Given the description of an element on the screen output the (x, y) to click on. 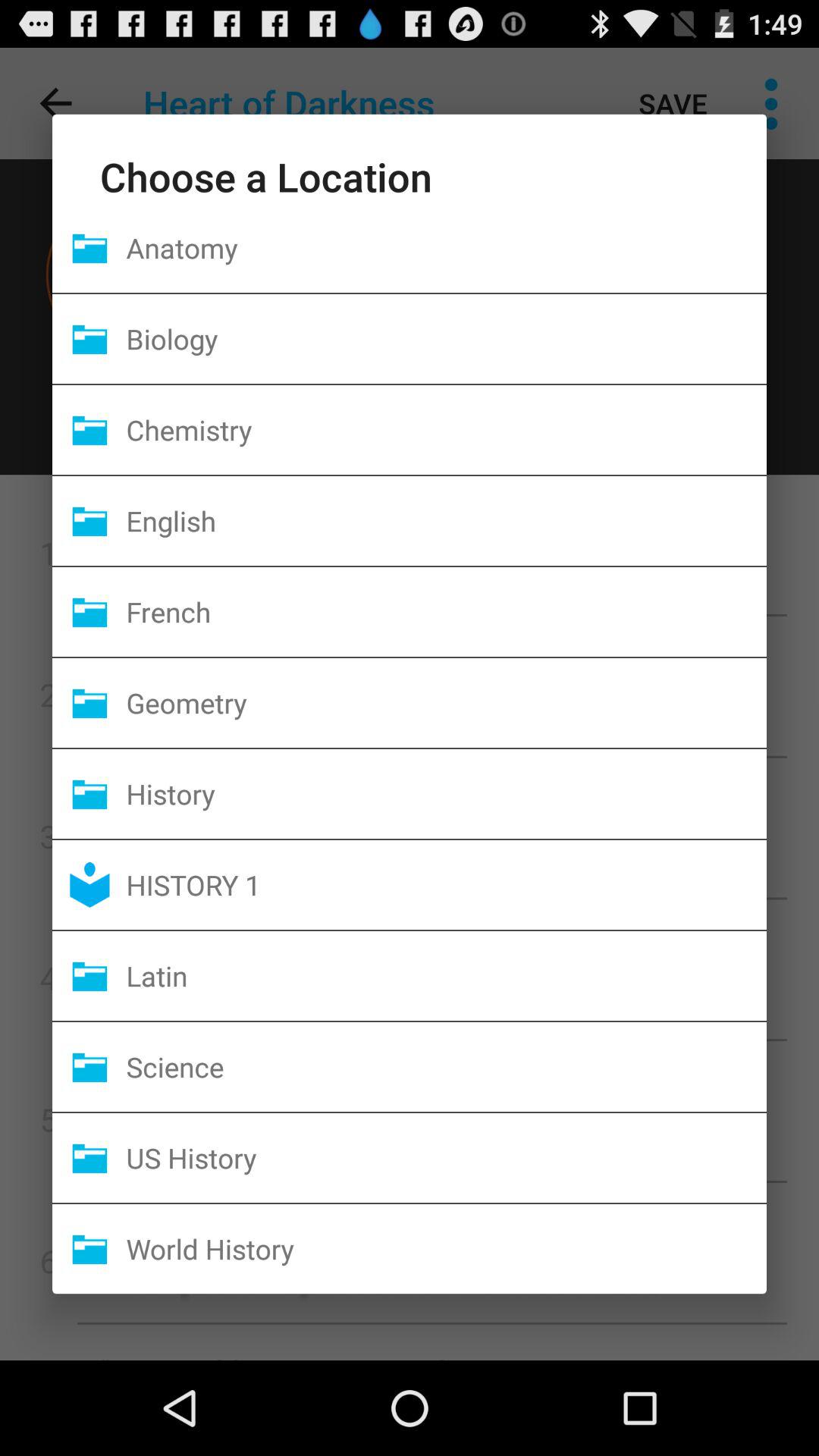
open biology icon (446, 338)
